Given the description of an element on the screen output the (x, y) to click on. 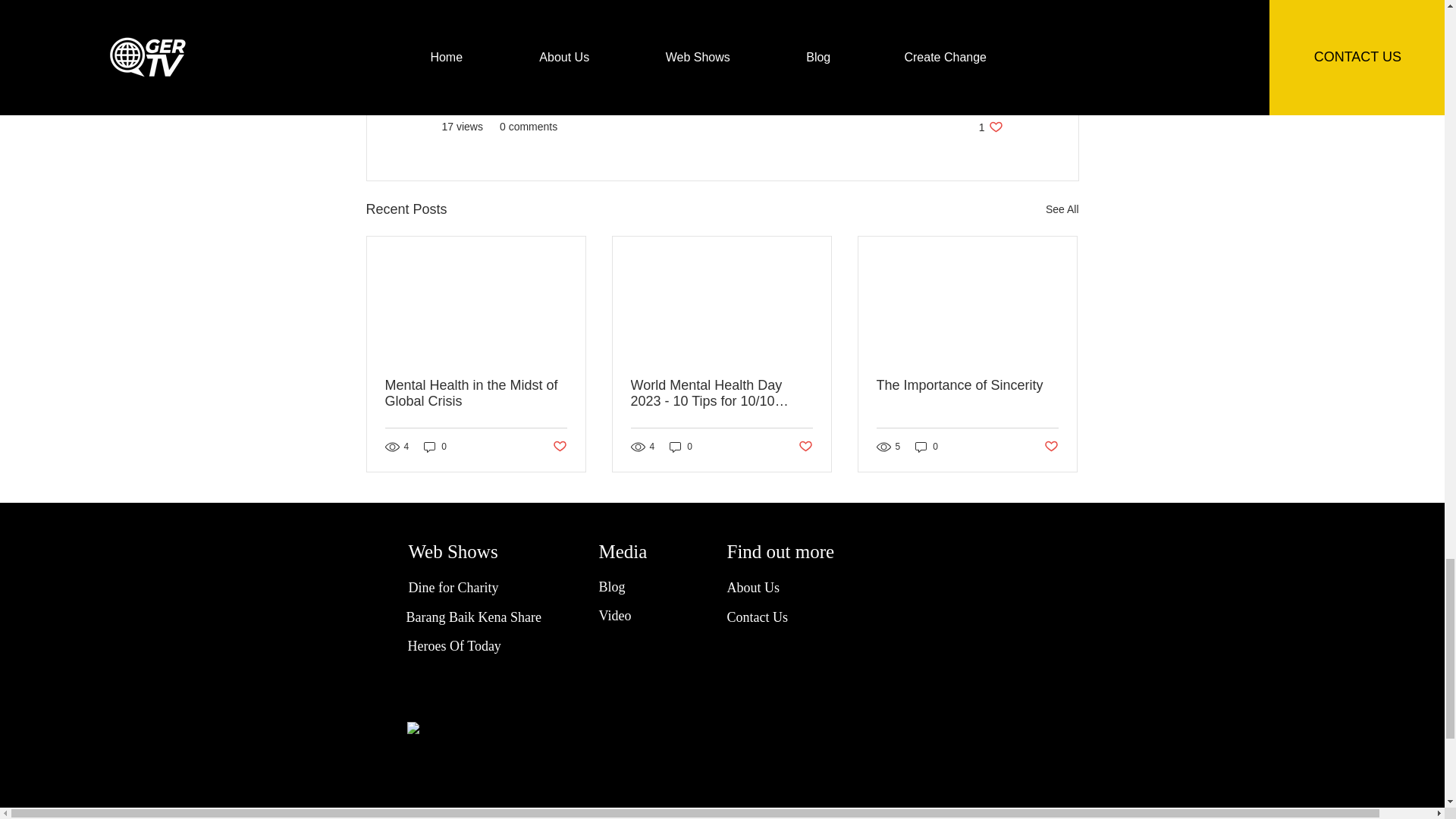
tips (990, 126)
kindness (459, 24)
Lifestyle (513, 24)
See All (983, 81)
